Given the description of an element on the screen output the (x, y) to click on. 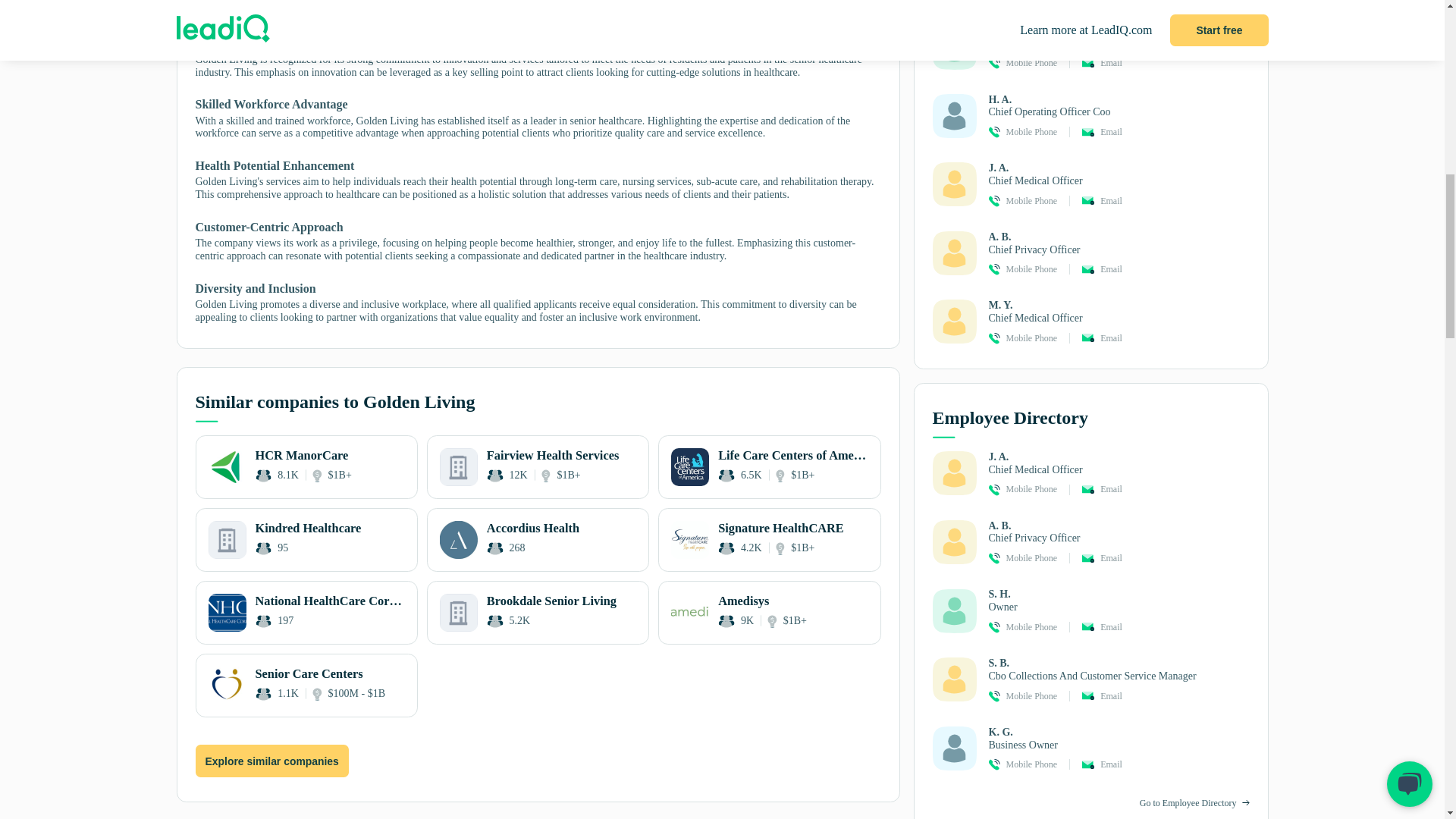
Explore similar companies (306, 539)
Mobile Phone (272, 760)
Email (1031, 131)
Mobile Phone (537, 612)
Explore similar companies (537, 539)
